Given the description of an element on the screen output the (x, y) to click on. 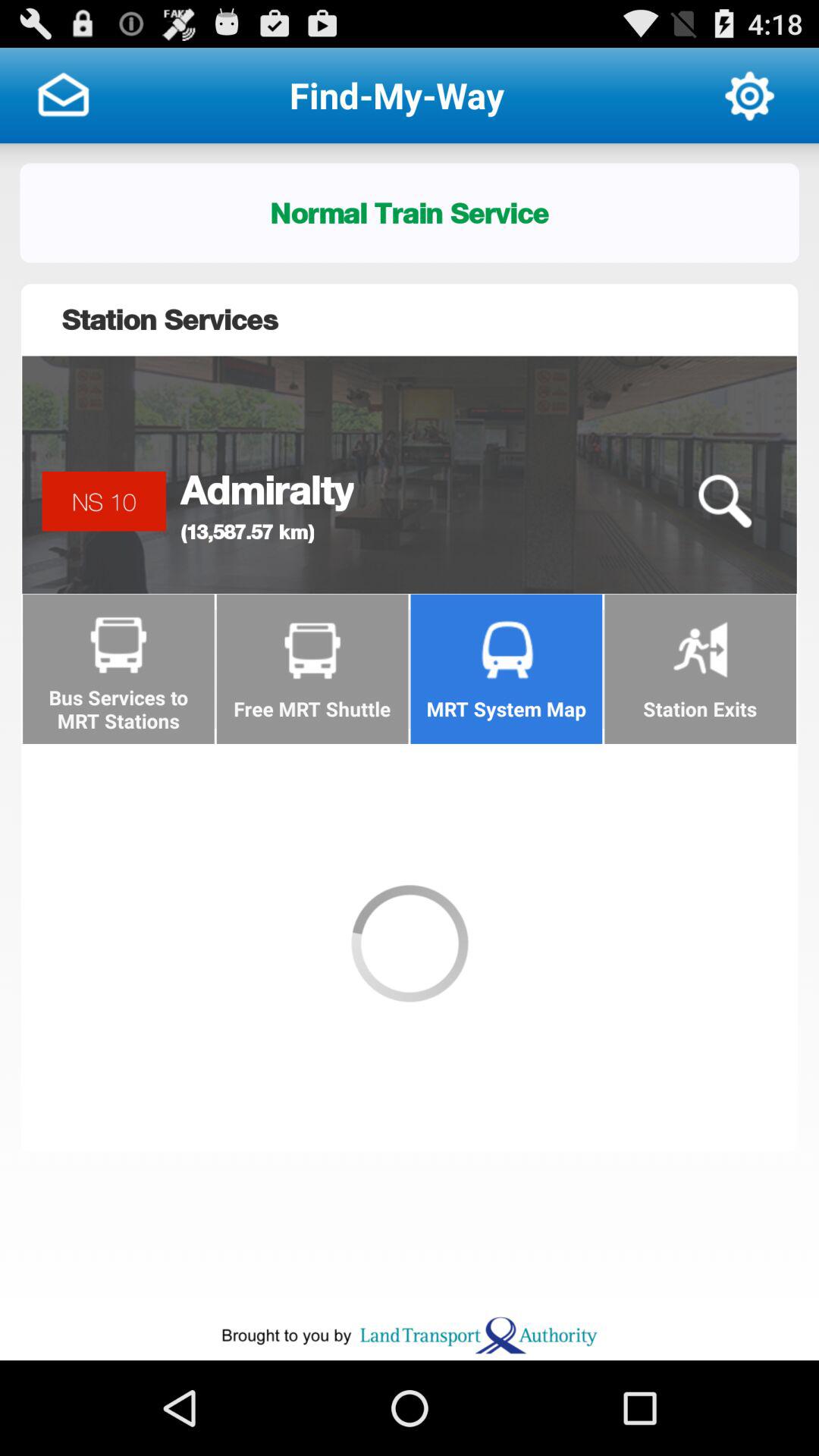
open settings (749, 95)
